Given the description of an element on the screen output the (x, y) to click on. 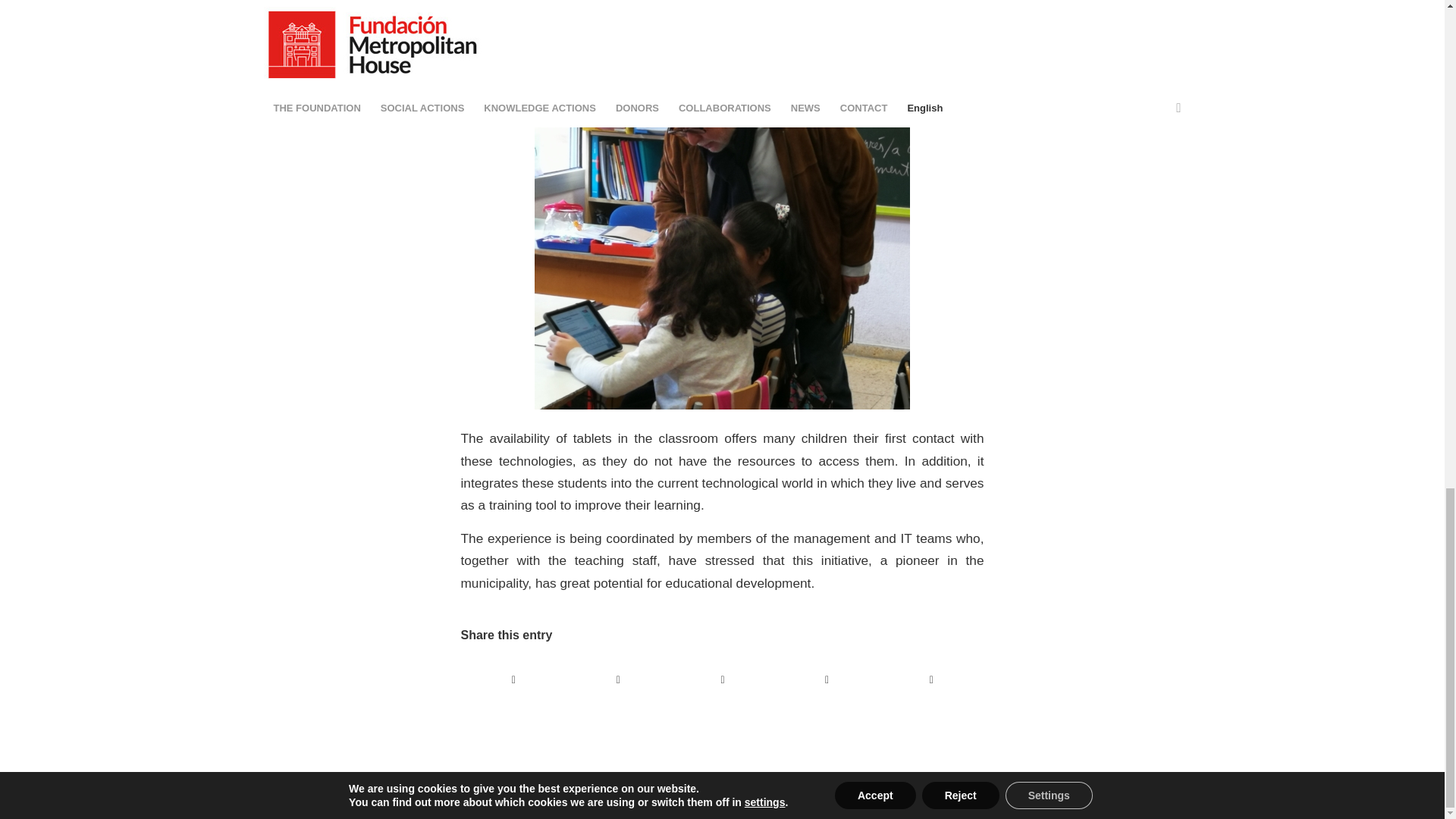
Legal advertisement (834, 798)
Privacy policy (1011, 798)
Cookies policy (624, 798)
